Given the description of an element on the screen output the (x, y) to click on. 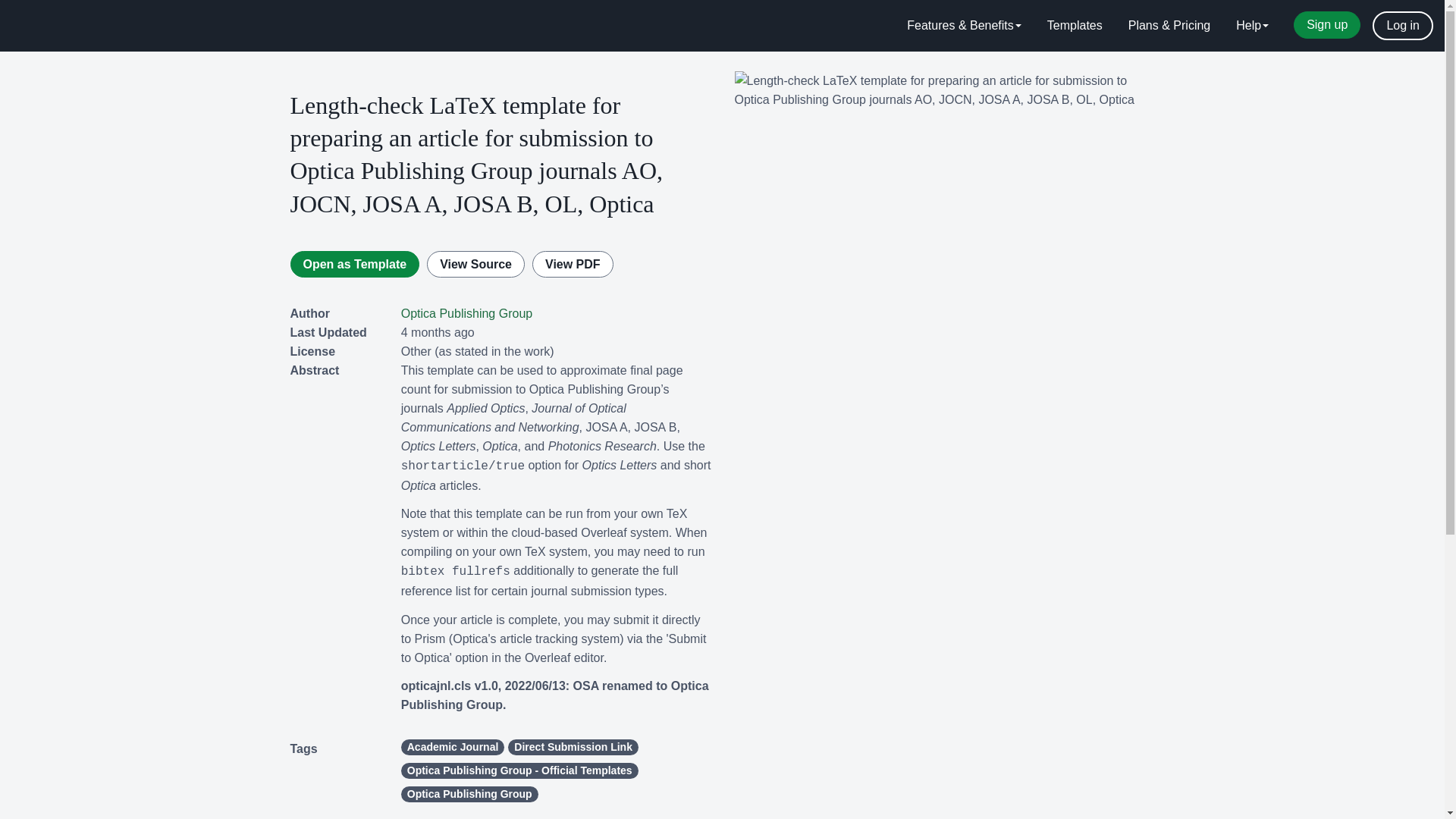
Academic Journal (453, 747)
Optica Publishing Group (469, 794)
Optica Publishing Group (466, 313)
Optica Publishing Group - Official Templates (520, 770)
Log in (1402, 25)
View PDF (572, 263)
Sign up (1326, 24)
Help (1252, 25)
Direct Submission Link (573, 747)
Templates (1074, 25)
